Given the description of an element on the screen output the (x, y) to click on. 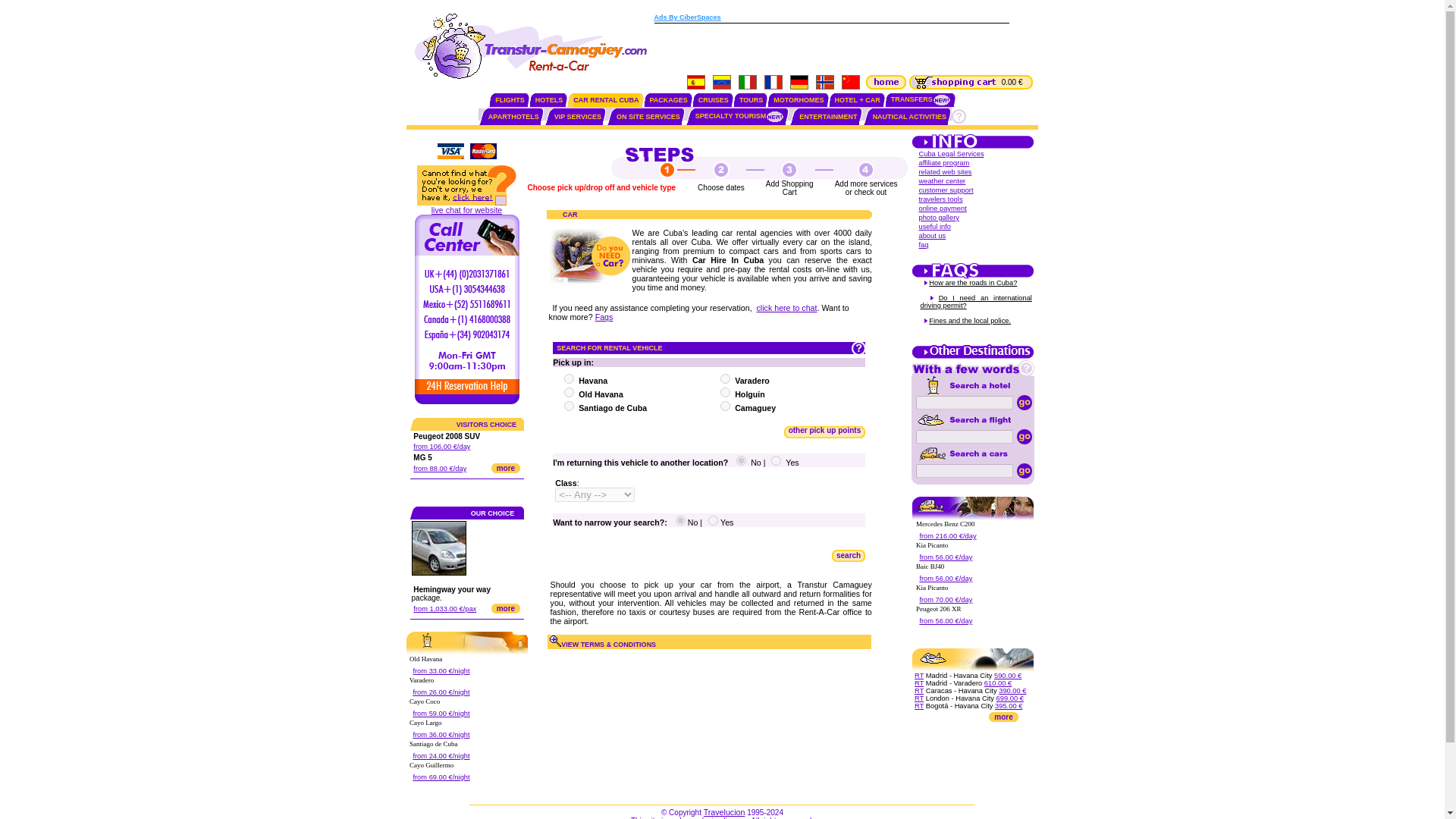
TOURS (750, 100)
4 (568, 392)
ON SITE SERVICES (647, 116)
Advertisement (831, 48)
CAR RENTAL CUBA (606, 100)
Other Destinations (972, 356)
0 (740, 460)
Ads By CiberSpaces (686, 17)
12 (725, 378)
HOTELS (549, 100)
live chat for website (466, 209)
NAUTICAL ACTIVITIES (909, 116)
PACKAGES (668, 100)
24 (568, 406)
CRUISES (713, 100)
